Given the description of an element on the screen output the (x, y) to click on. 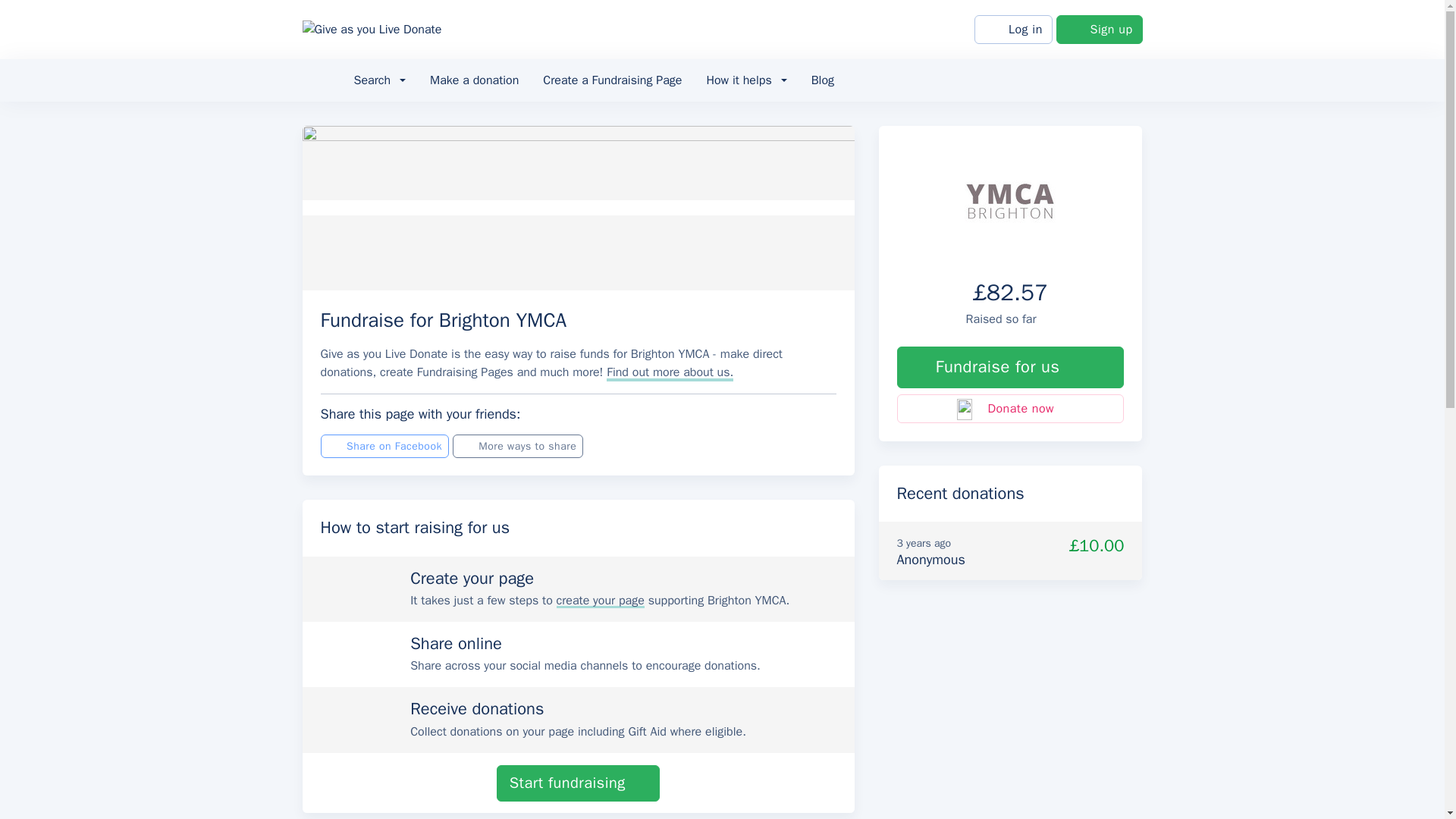
Sign up (1099, 29)
Make a donation (474, 79)
Donate now (1010, 408)
Log in (1013, 29)
Home (320, 79)
More ways to share (517, 445)
Start fundraising (578, 782)
How it helps (745, 79)
Fundraise for us (1010, 367)
Blog (822, 79)
Find out more about us. (670, 372)
create your page (600, 600)
Search (378, 79)
Share on Facebook (384, 445)
Create a Fundraising Page (612, 79)
